Given the description of an element on the screen output the (x, y) to click on. 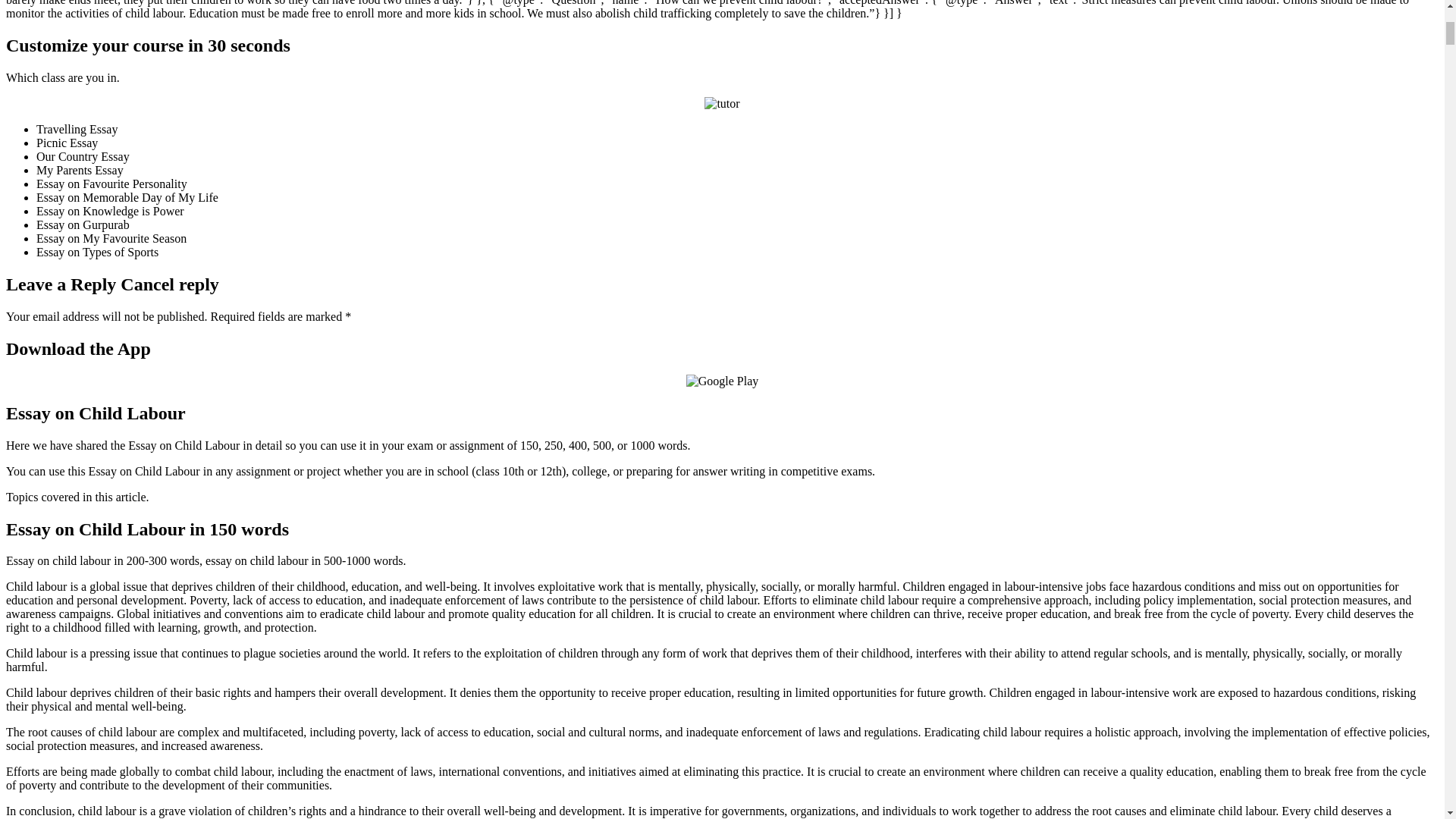
child labour best essay (721, 381)
child labour best essay (721, 103)
